Given the description of an element on the screen output the (x, y) to click on. 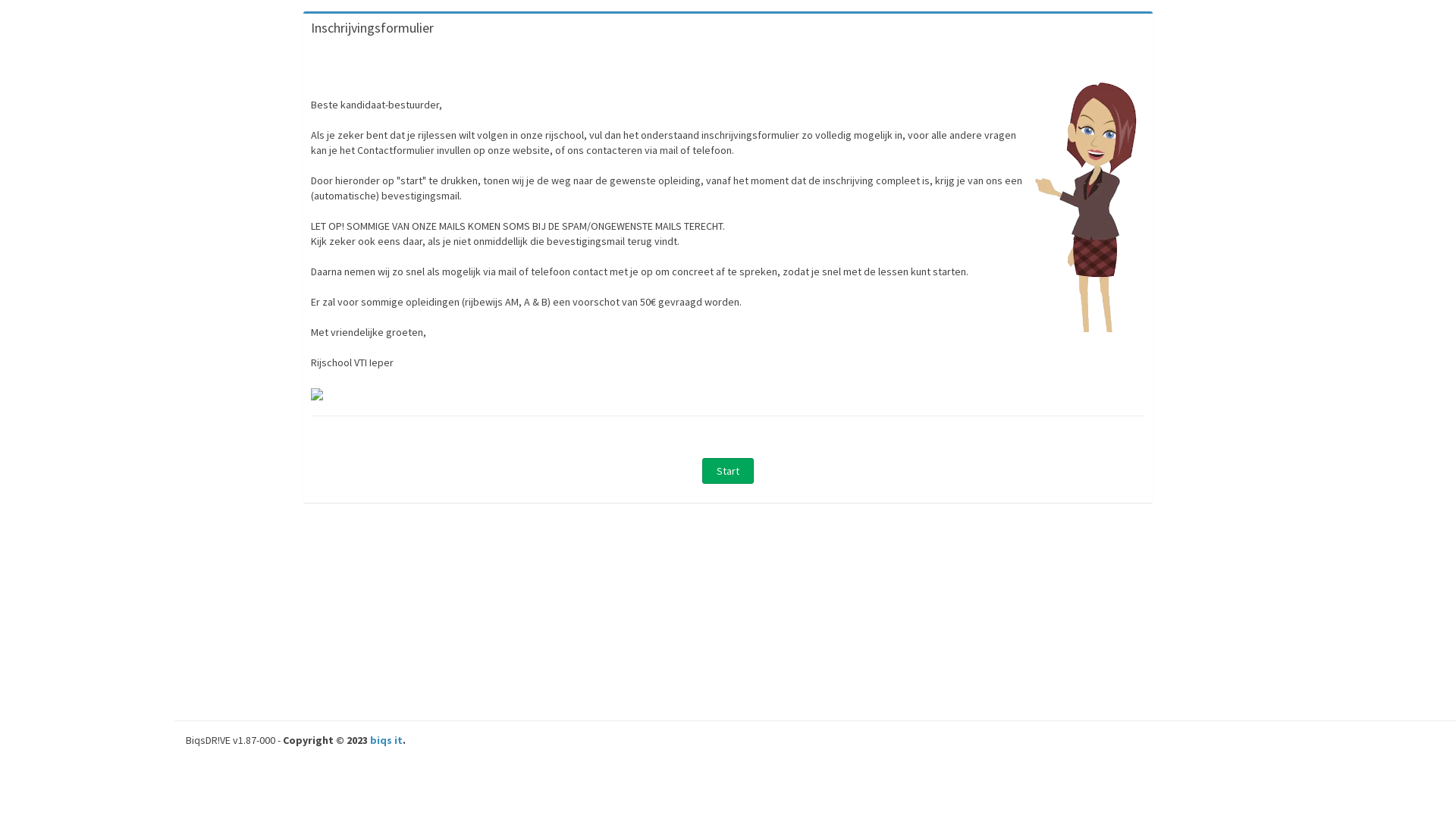
biqs it Element type: text (386, 739)
  Start   Element type: text (727, 470)
